Given the description of an element on the screen output the (x, y) to click on. 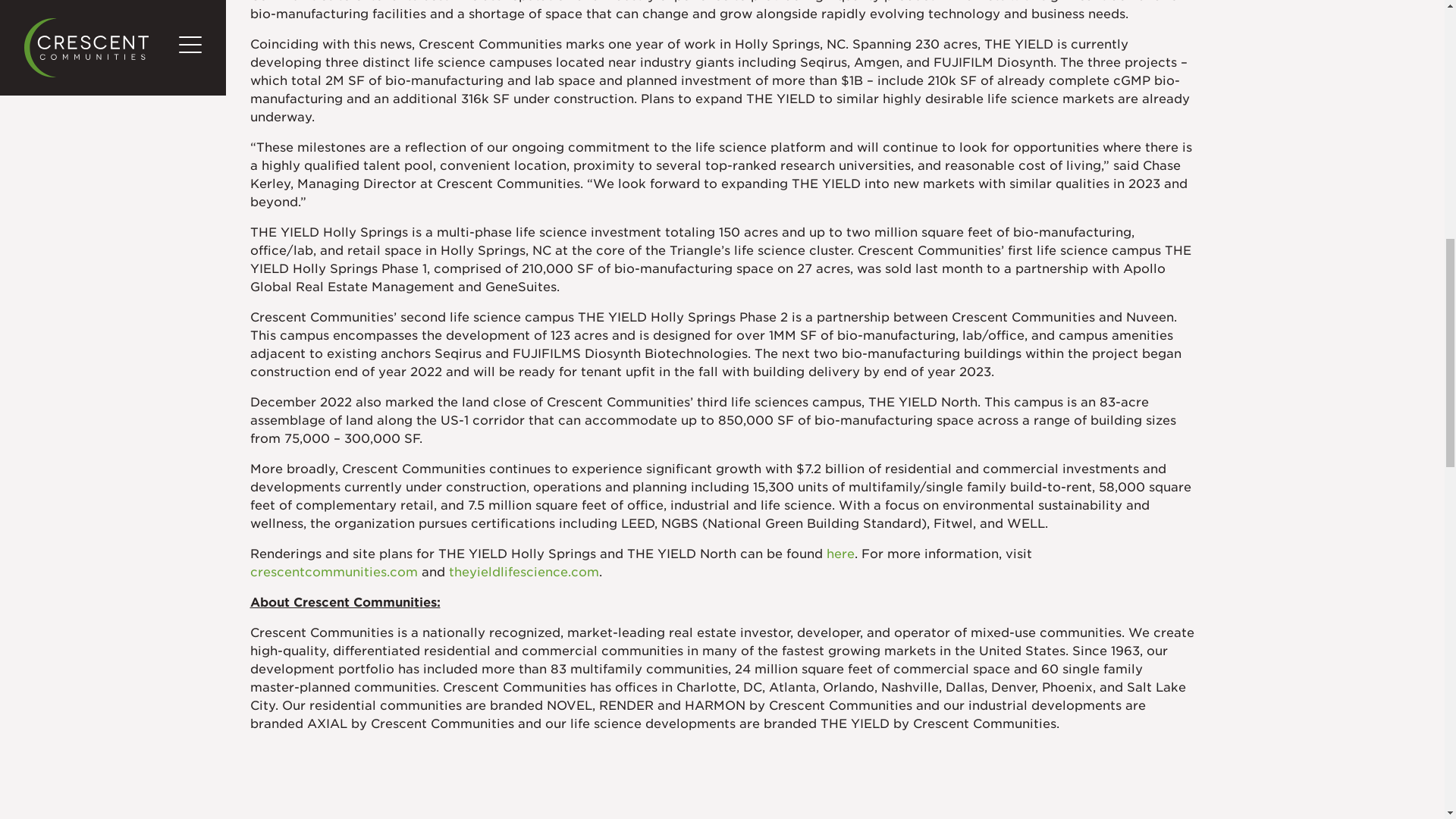
here (840, 554)
theyieldlifescience.com (523, 572)
crescentcommunities.com (333, 572)
